Given the description of an element on the screen output the (x, y) to click on. 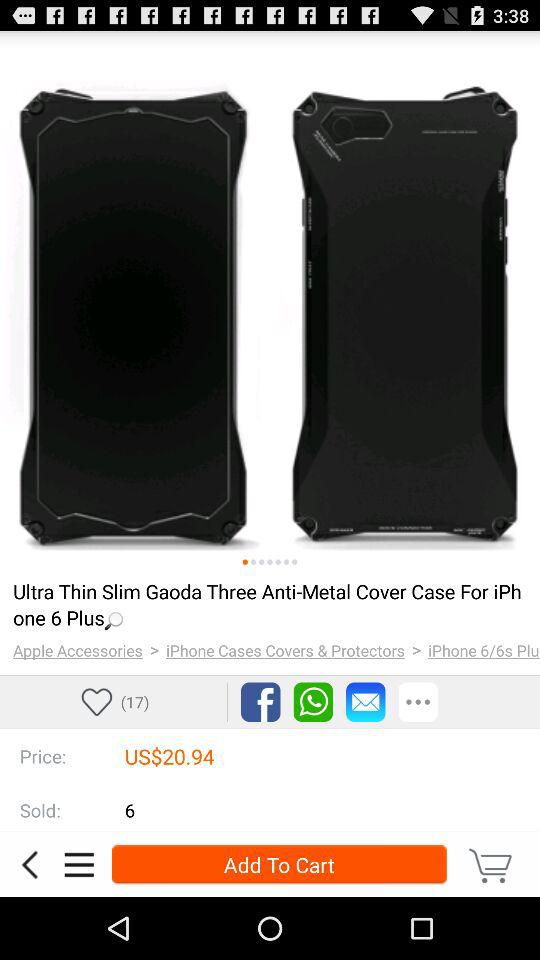
go back to previous products (29, 864)
